Given the description of an element on the screen output the (x, y) to click on. 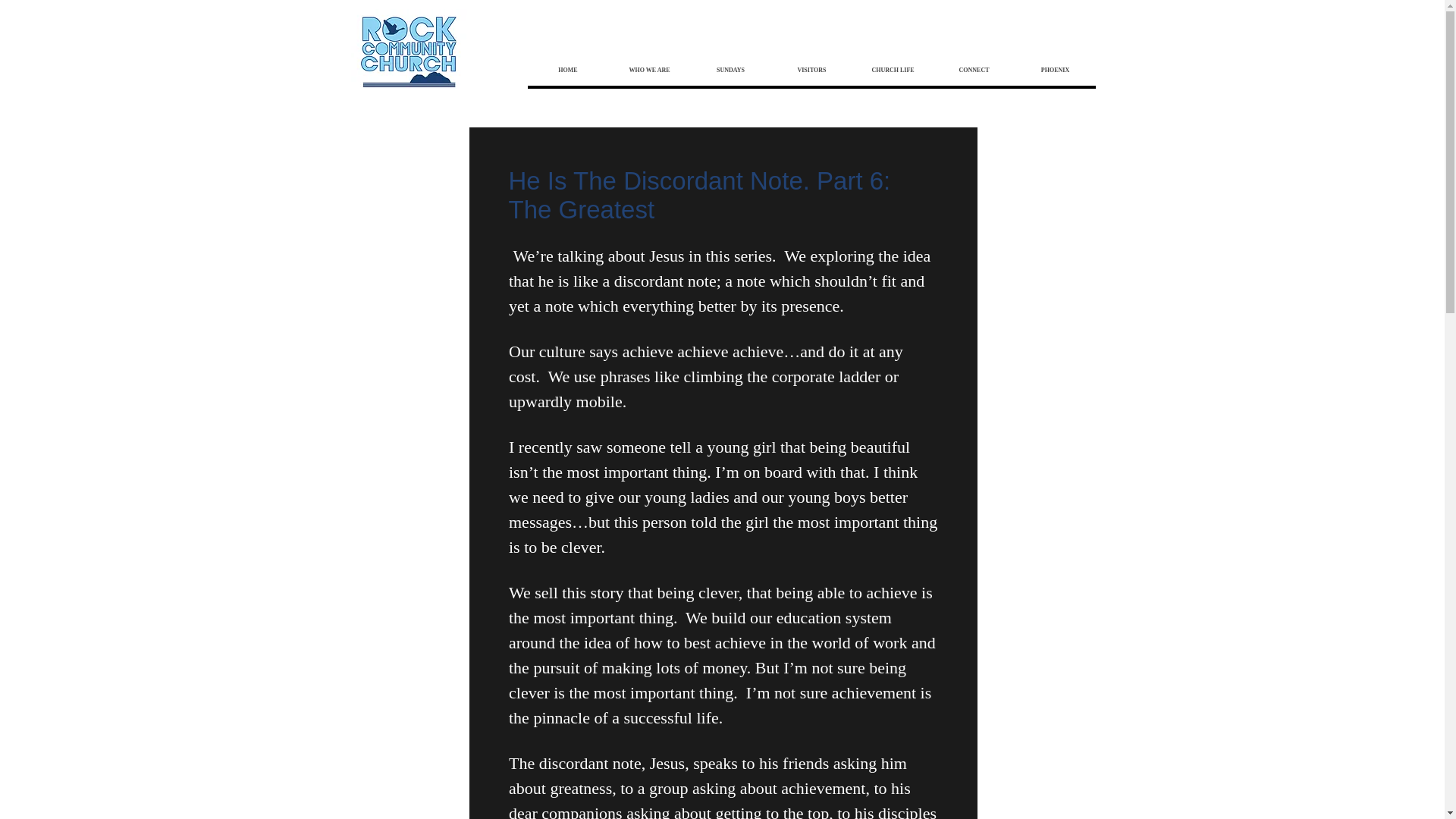
VISITORS (810, 69)
WHO WE ARE (648, 69)
CONNECT (973, 69)
SUNDAYS (730, 69)
CHURCH LIFE (892, 69)
PHOENIX (1055, 69)
HOME (567, 69)
